Given the description of an element on the screen output the (x, y) to click on. 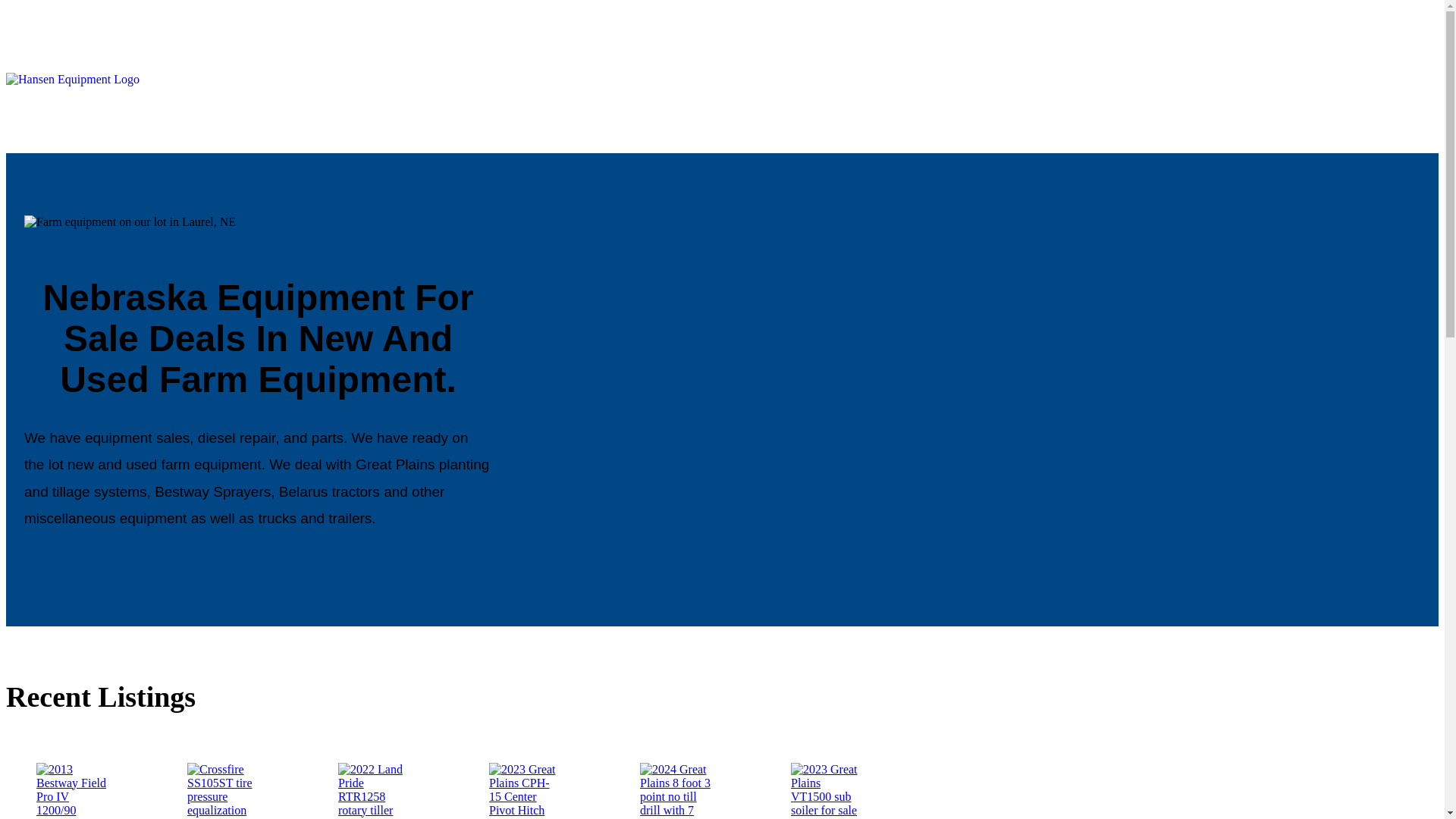
2022 Land Pride RTR1258 rotary tiller for sale Laurel, NE (373, 790)
2023 Great Plains VT1500 sub soiler for sale Laurel, NE (826, 790)
